Given the description of an element on the screen output the (x, y) to click on. 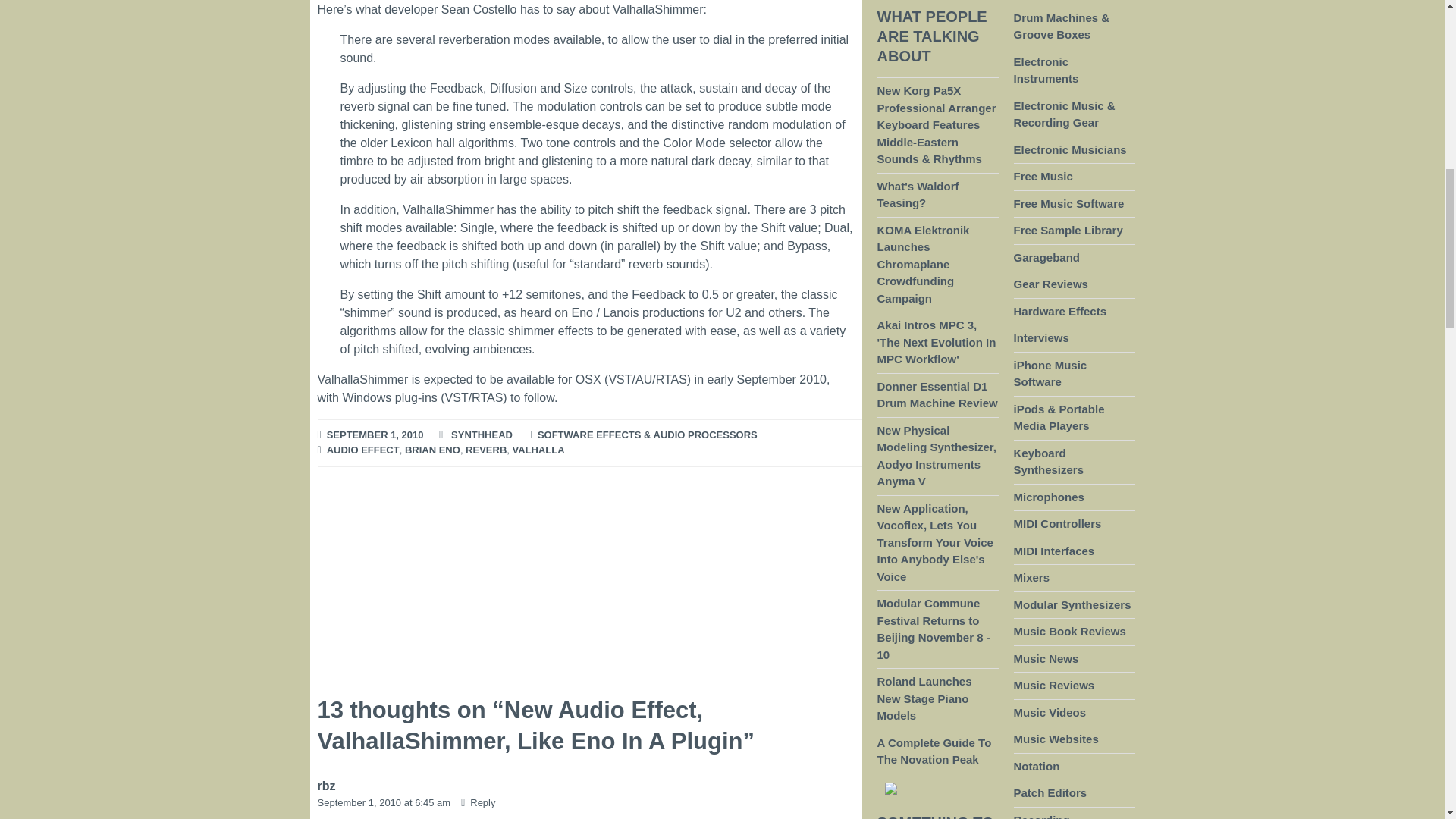
REVERB (485, 450)
AUDIO EFFECT (362, 450)
VALHALLA (538, 450)
BRIAN ENO (432, 450)
September 1, 2010 at 6:45 am (384, 802)
SYNTHHEAD (481, 435)
Reply (478, 802)
SEPTEMBER 1, 2010 (374, 435)
